Given the description of an element on the screen output the (x, y) to click on. 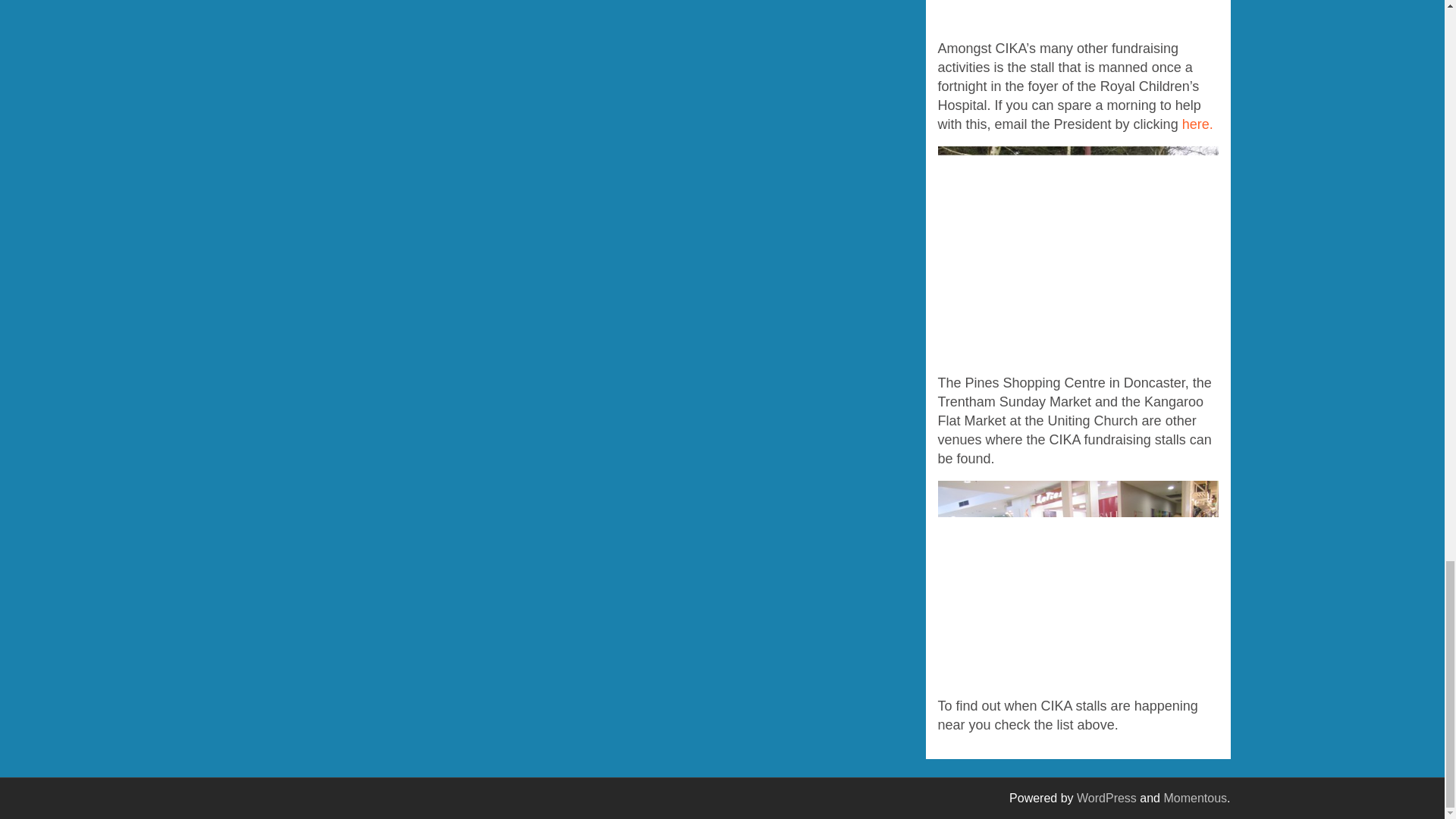
Momentous WordPress Theme (1195, 797)
WordPress (1107, 797)
